Given the description of an element on the screen output the (x, y) to click on. 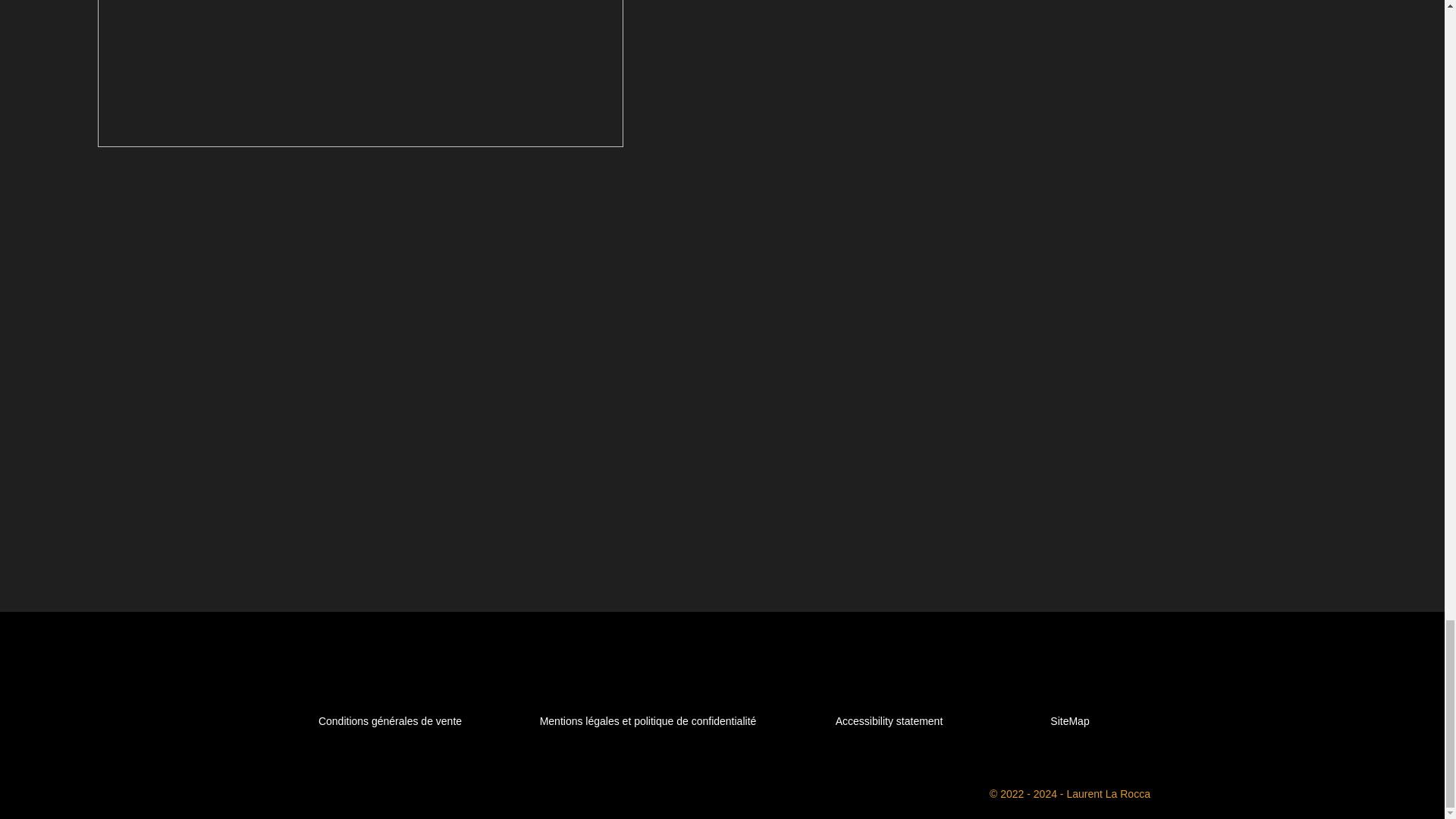
Accessibility statement (889, 720)
Join the dance difference.jpg (360, 73)
